Given the description of an element on the screen output the (x, y) to click on. 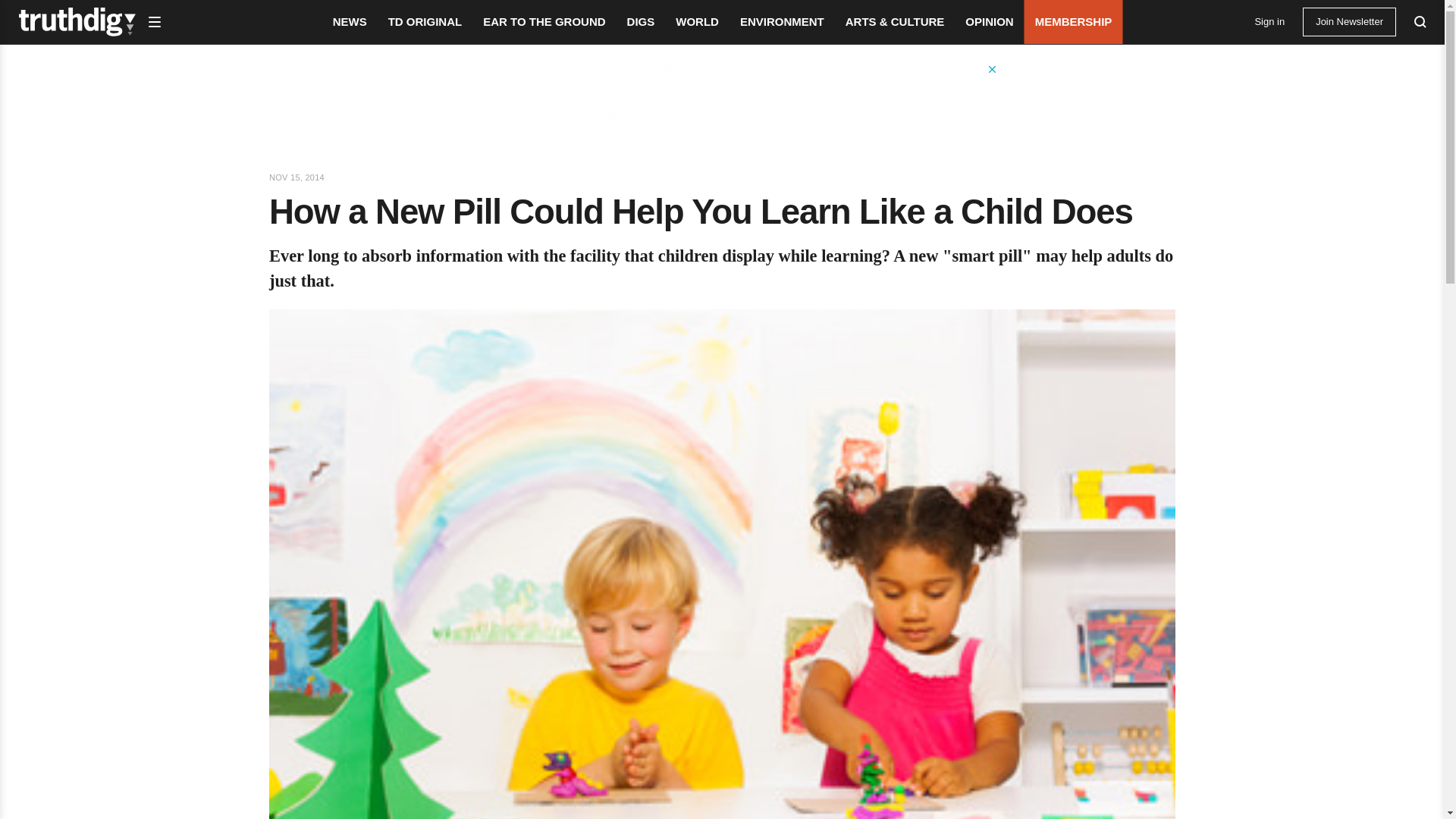
3rd party ad content (721, 97)
